Given the description of an element on the screen output the (x, y) to click on. 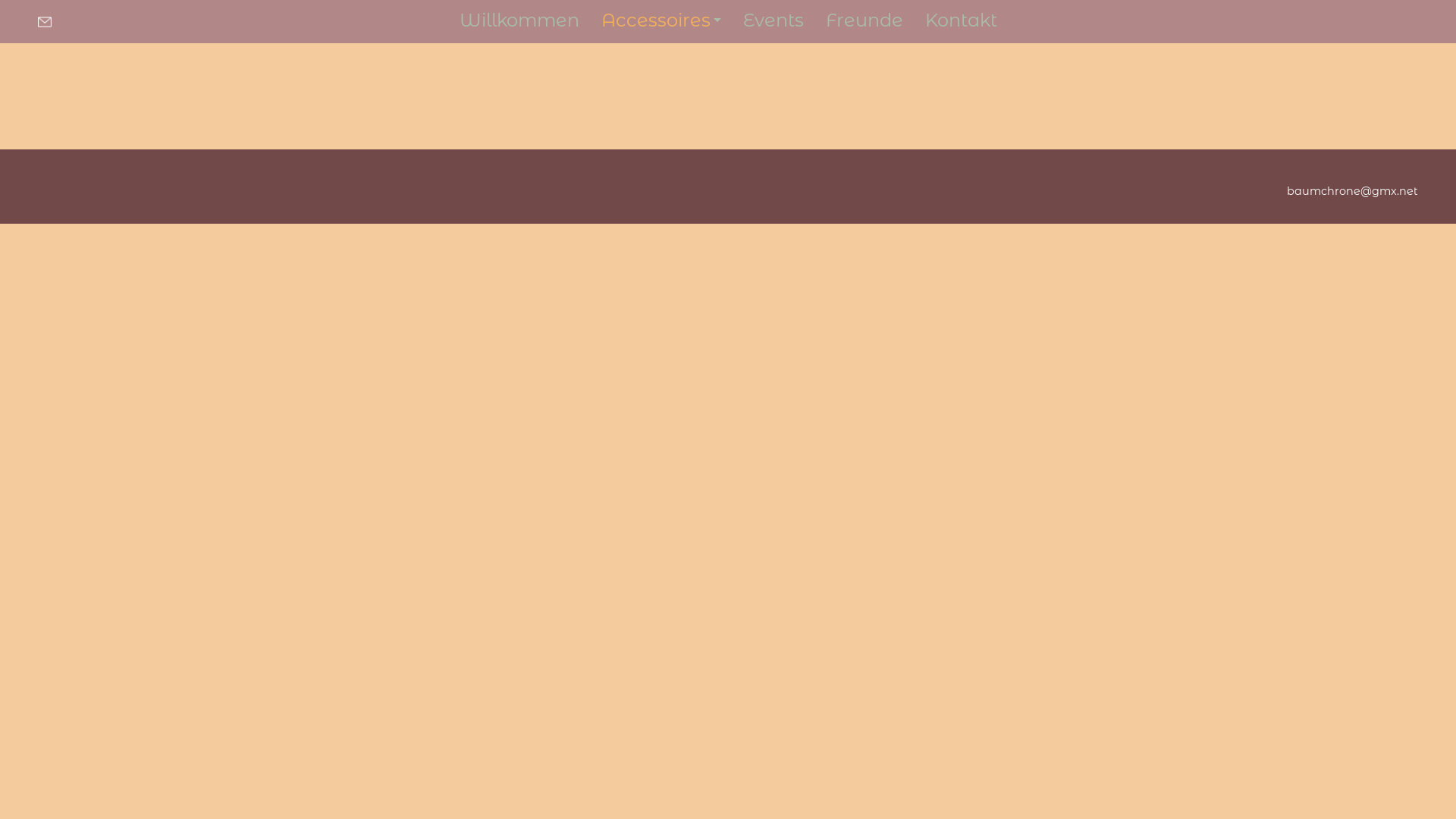
Willkommen Element type: text (519, 19)
Events Element type: text (773, 19)
baumchrone@gmx.net Element type: text (49, 21)
baumchrone@gmx.net Element type: text (1352, 190)
Kontakt Element type: text (961, 19)
Freunde Element type: text (863, 19)
